Given the description of an element on the screen output the (x, y) to click on. 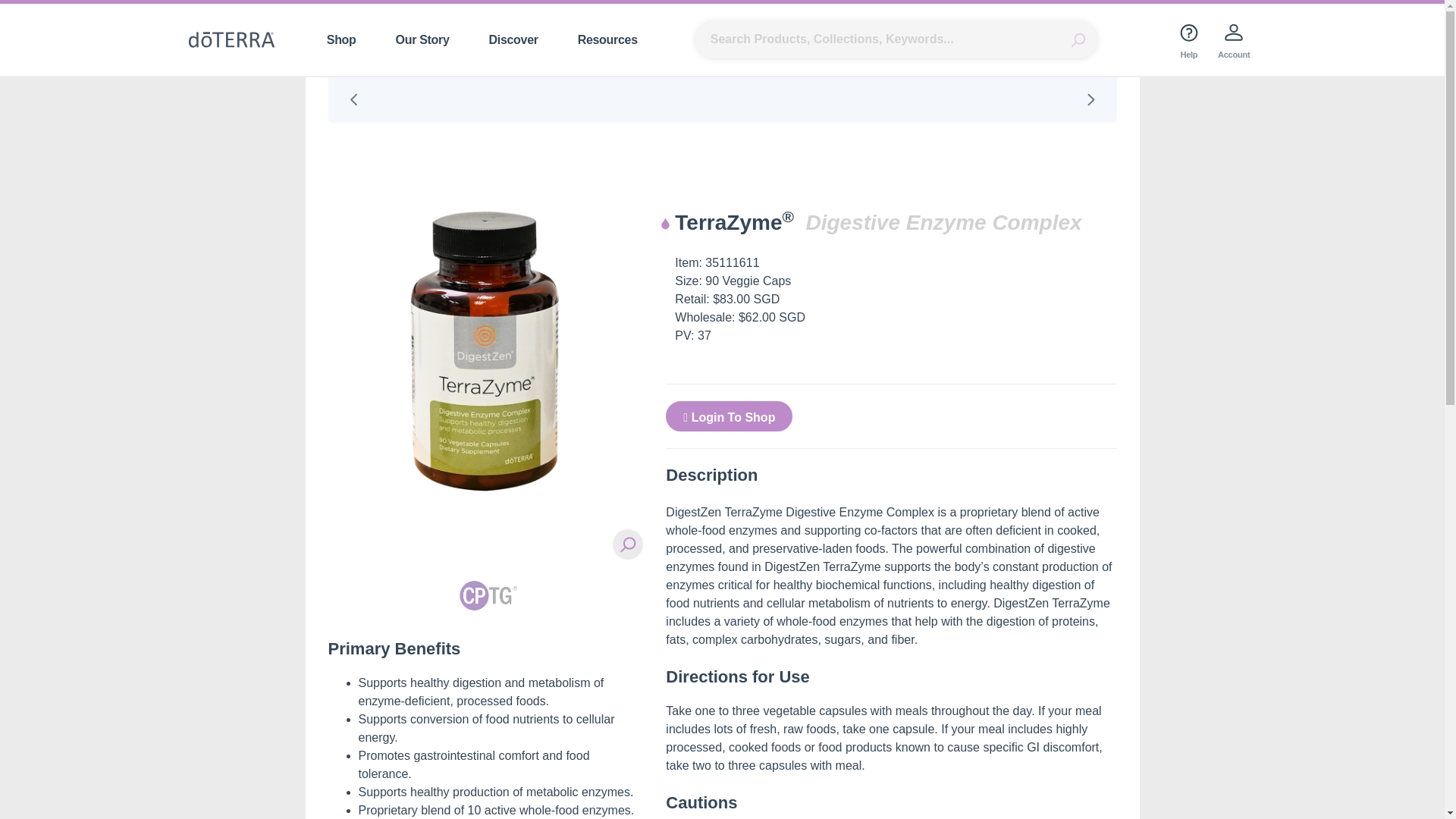
Click to enlarge image (627, 544)
Click to enlarge image (485, 367)
cptg-reg.gif (485, 595)
